Given the description of an element on the screen output the (x, y) to click on. 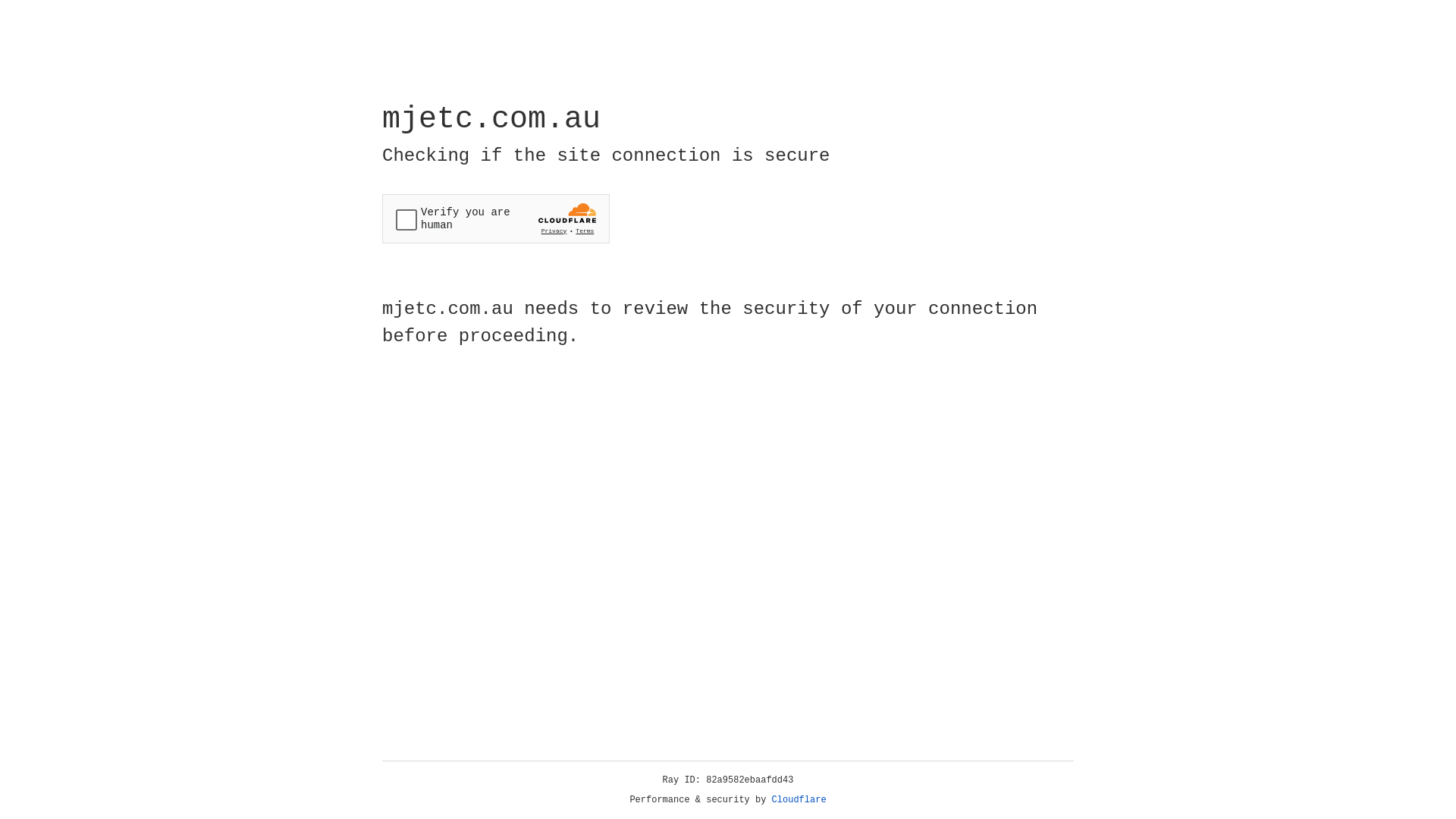
Cloudflare Element type: text (798, 799)
Widget containing a Cloudflare security challenge Element type: hover (495, 218)
